Given the description of an element on the screen output the (x, y) to click on. 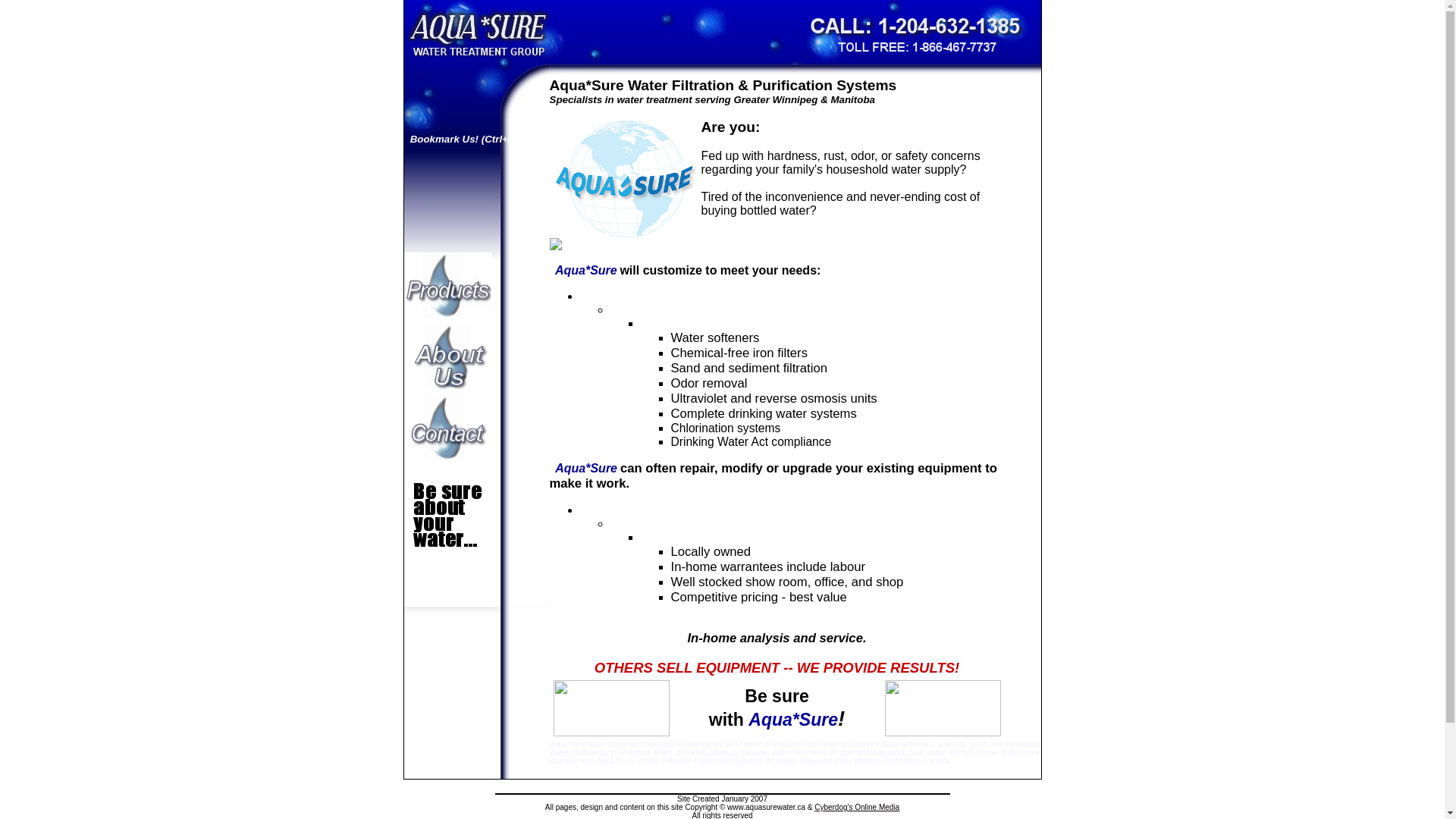
Cyberdog's Online Media Element type: text (856, 807)
